Given the description of an element on the screen output the (x, y) to click on. 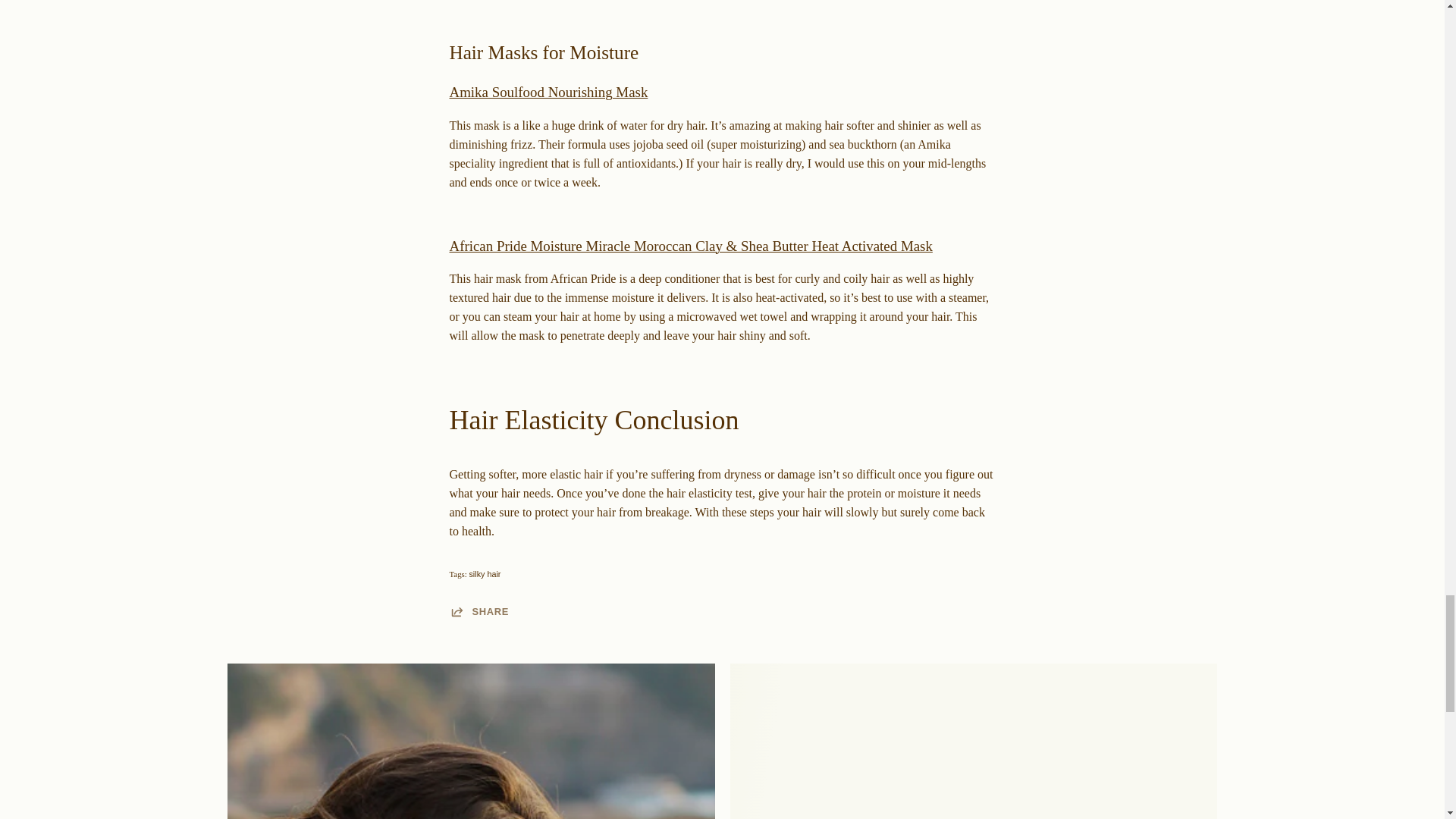
SHARE (478, 611)
silky hair (484, 573)
Amika Soulfood Nourishing Mask (547, 91)
